Given the description of an element on the screen output the (x, y) to click on. 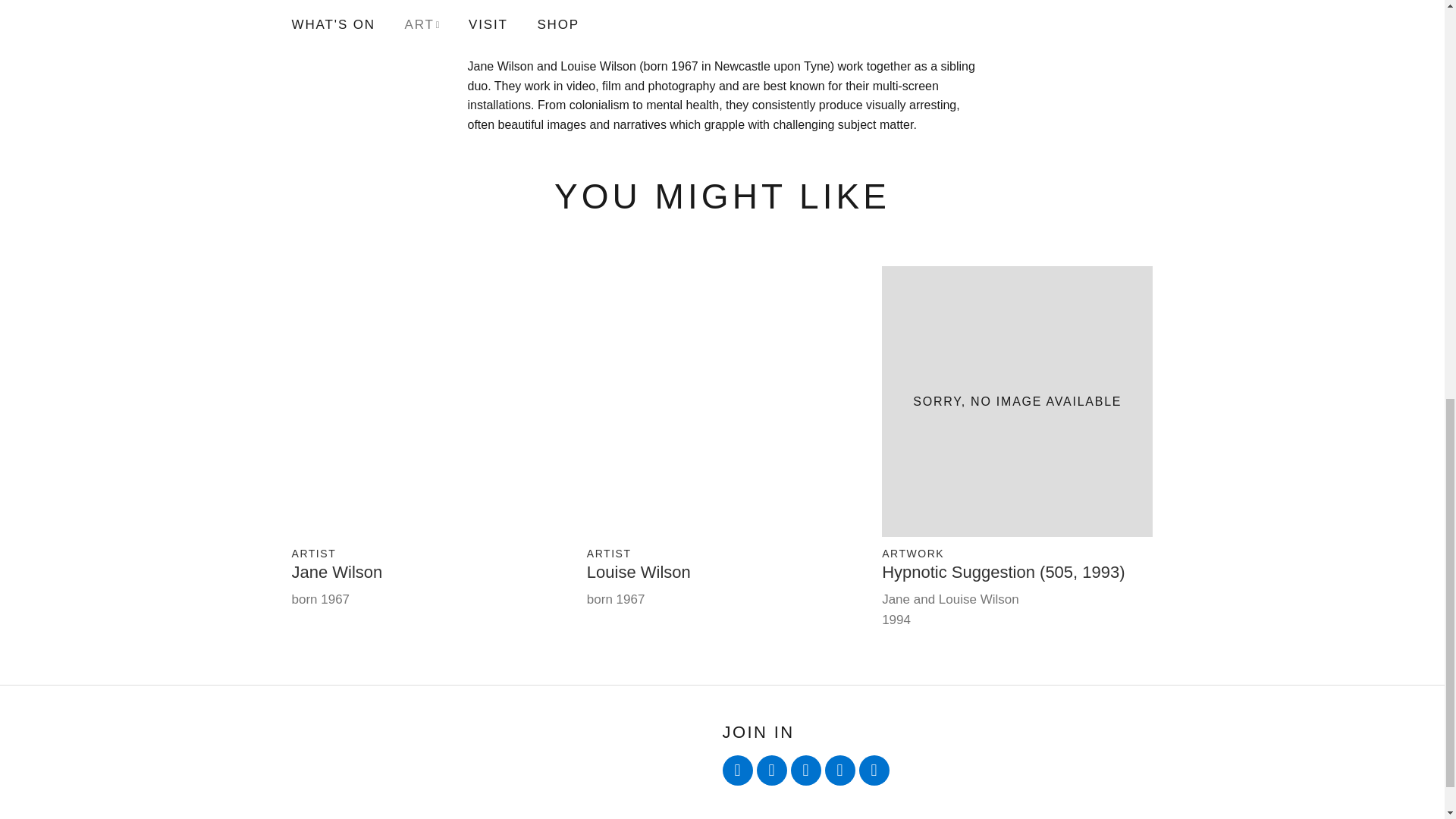
Pinterest (873, 770)
Twitter (737, 770)
Facebook (772, 770)
Instagram (840, 770)
Youtube (805, 770)
